Given the description of an element on the screen output the (x, y) to click on. 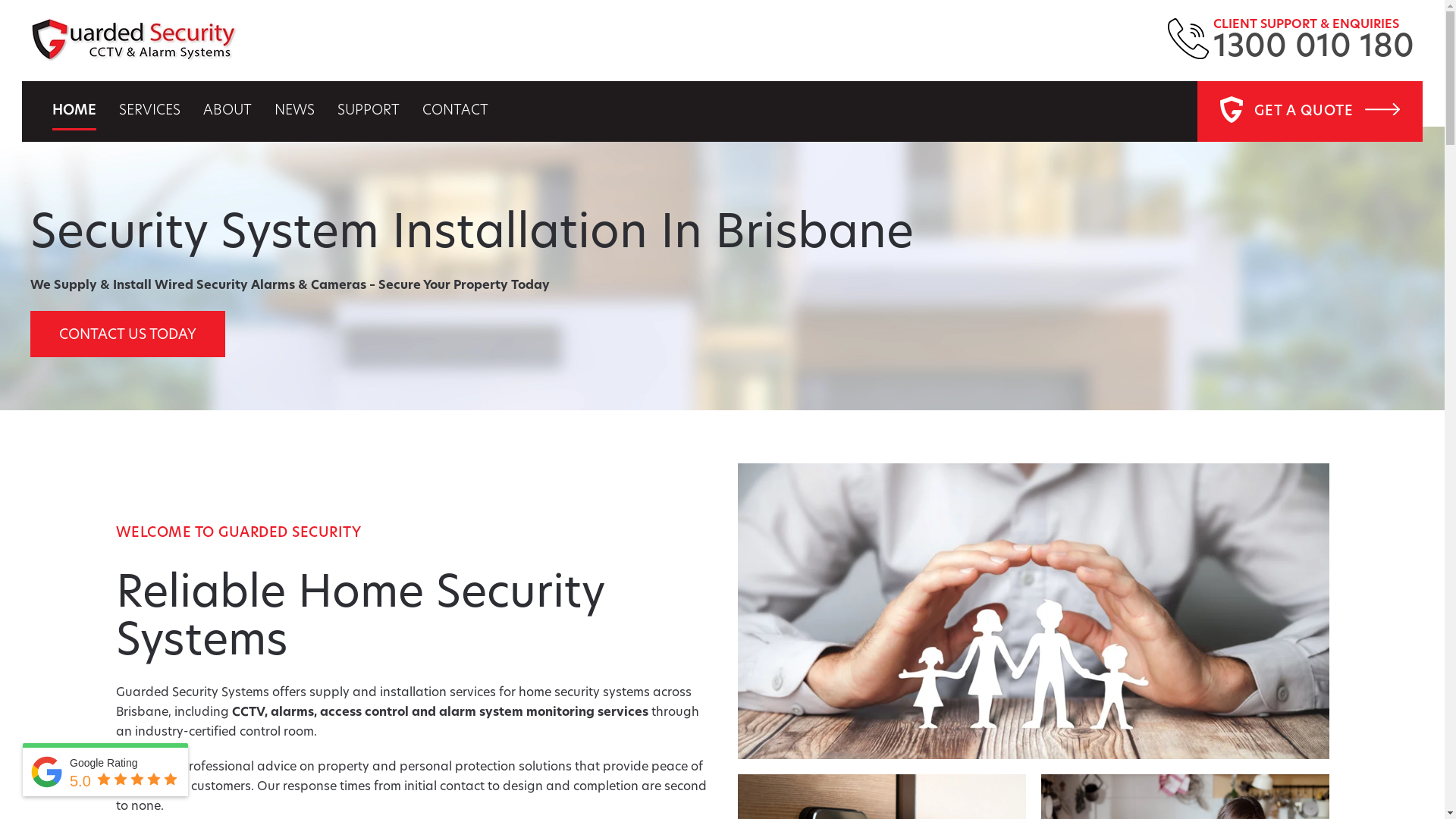
SUPPORT Element type: text (368, 111)
CONTACT US TODAY Element type: text (127, 333)
ABOUT Element type: text (227, 111)
CONTACT Element type: text (455, 111)
NEWS Element type: text (294, 111)
GET A QUOTE Element type: text (1309, 111)
HOME Element type: text (74, 111)
1300 010 180 Element type: text (1313, 48)
SERVICES Element type: text (149, 111)
